Given the description of an element on the screen output the (x, y) to click on. 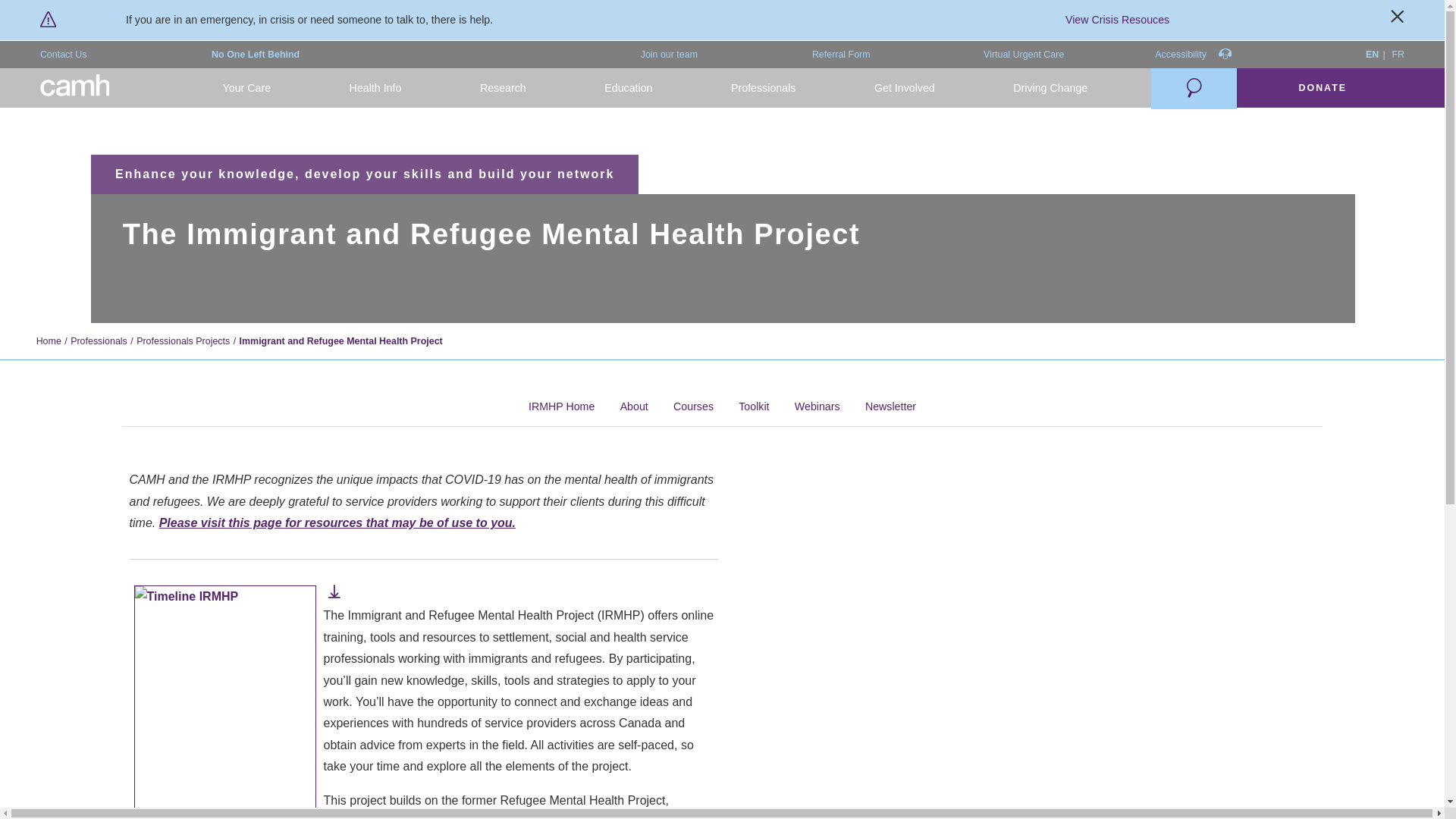
Join our team (668, 53)
Contact Us (63, 53)
CAMH logo (75, 88)
Accessibility (1192, 53)
No One Left Behind (255, 53)
Virtual Urgent Care (1024, 53)
View Crisis Resouces (1117, 20)
Referral Form (841, 53)
FR (1398, 53)
Your Care (246, 87)
